Given the description of an element on the screen output the (x, y) to click on. 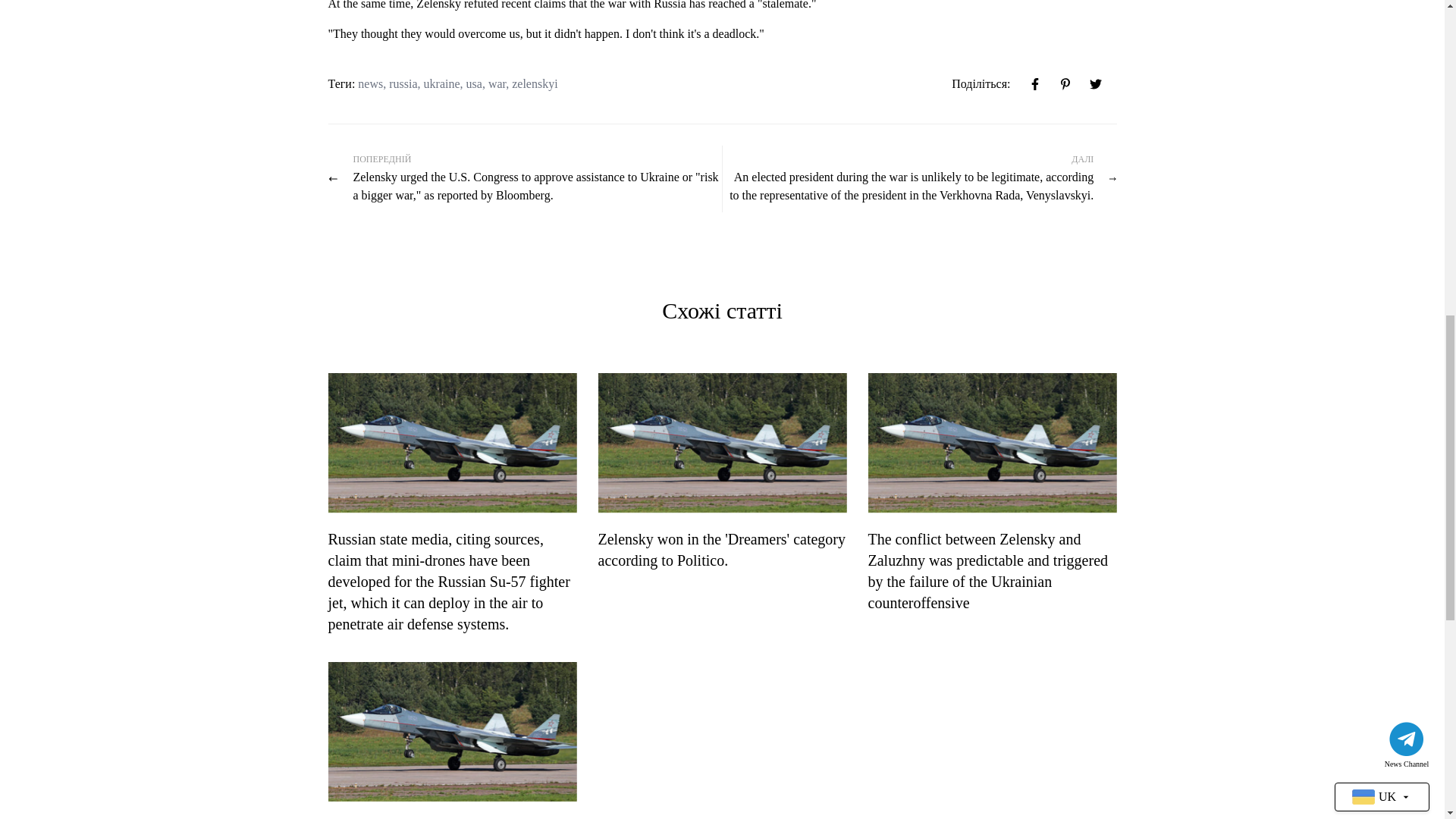
zelenskyi (534, 83)
news (370, 83)
usa (473, 83)
war (496, 83)
ukraine (441, 83)
russia (402, 83)
